Given the description of an element on the screen output the (x, y) to click on. 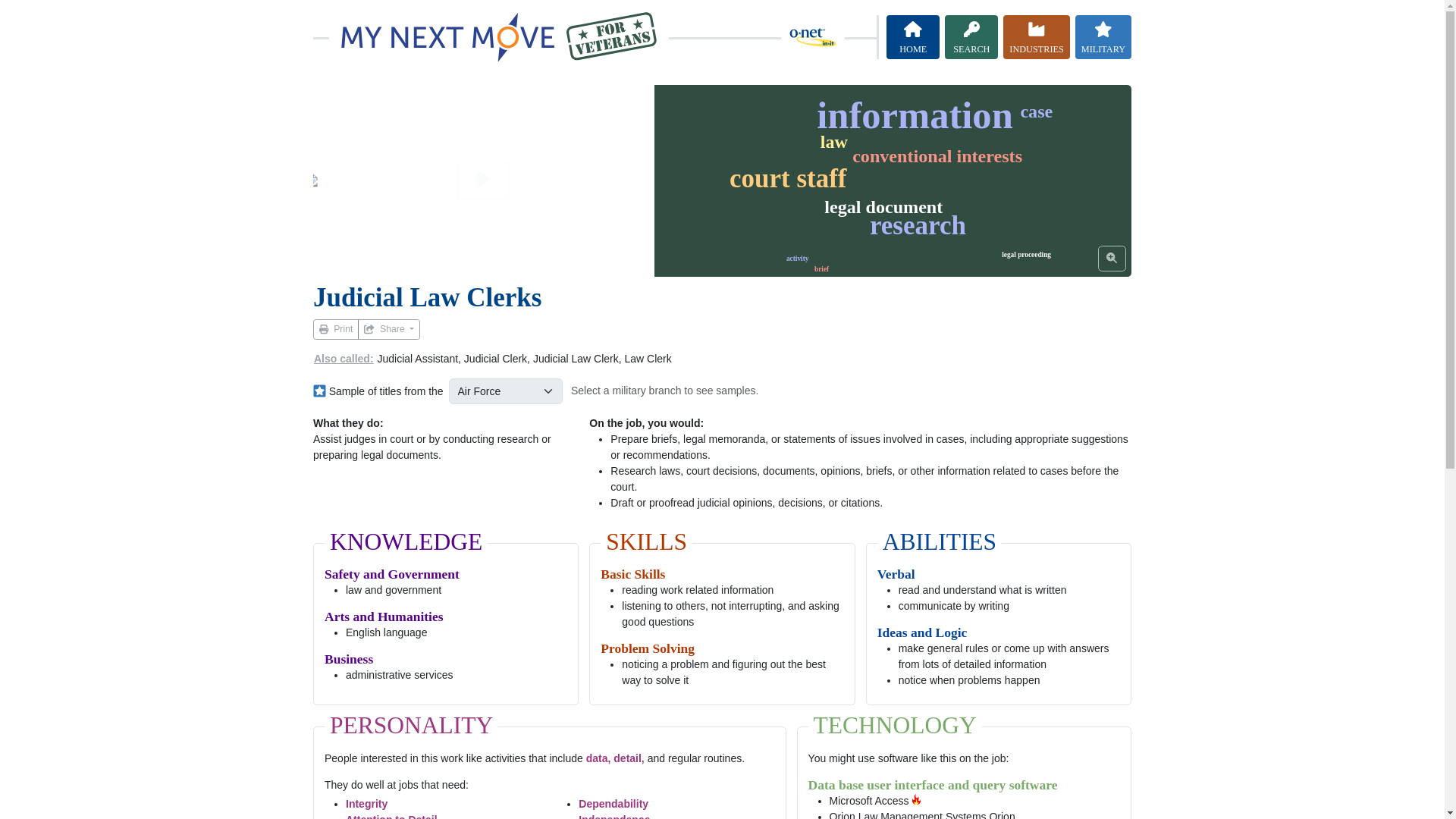
INDUSTRIES (1035, 37)
SEARCH (970, 37)
HOME (912, 37)
Share (389, 329)
Watch Career Video (483, 180)
Print (335, 329)
Also called: (343, 358)
View Word Cloud (1111, 258)
MILITARY (1103, 37)
